Given the description of an element on the screen output the (x, y) to click on. 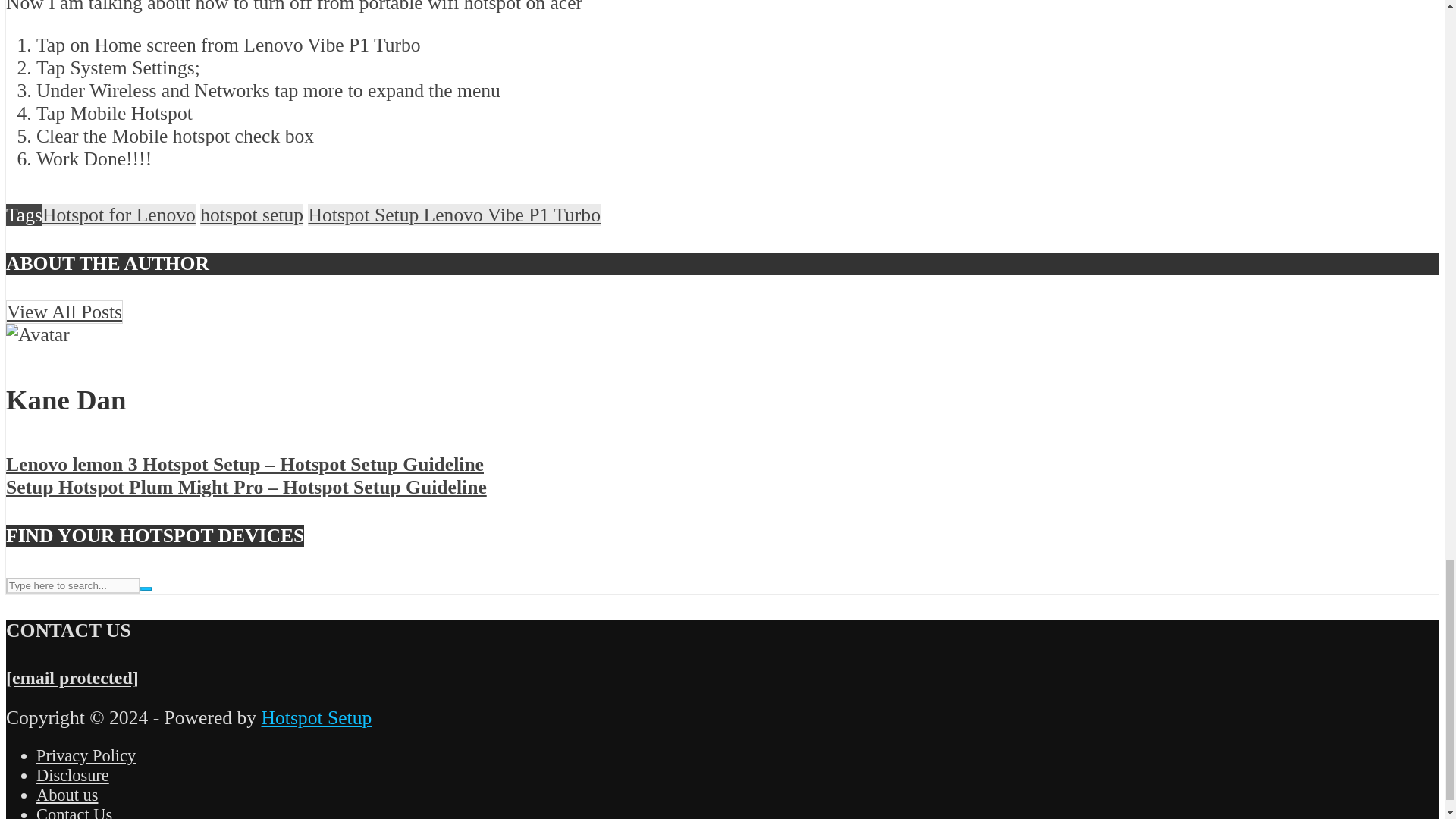
hotspot setup (251, 214)
Hotspot for Lenovo (118, 214)
Hotspot Setup Lenovo Vibe P1 Turbo (453, 214)
View All Posts (63, 311)
